Given the description of an element on the screen output the (x, y) to click on. 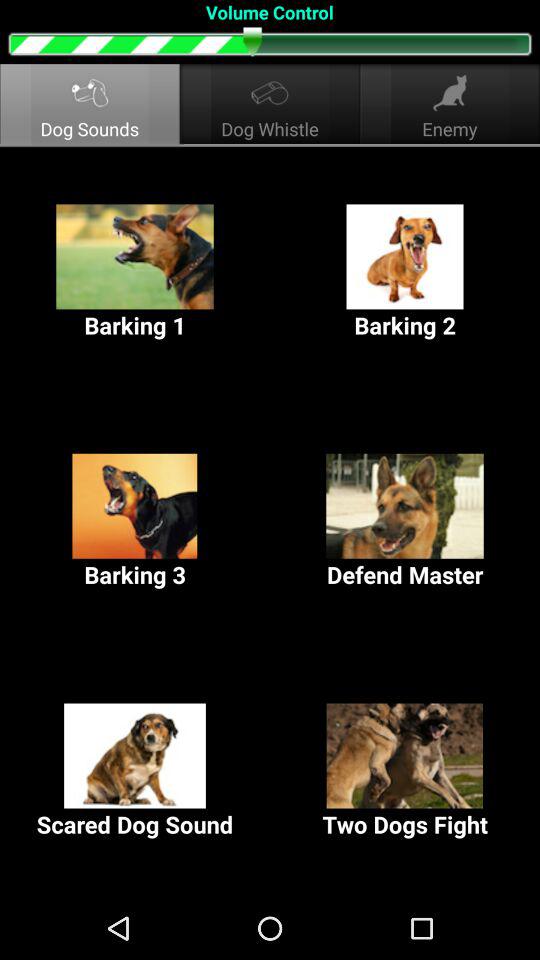
press the item below the barking 1 button (405, 521)
